Given the description of an element on the screen output the (x, y) to click on. 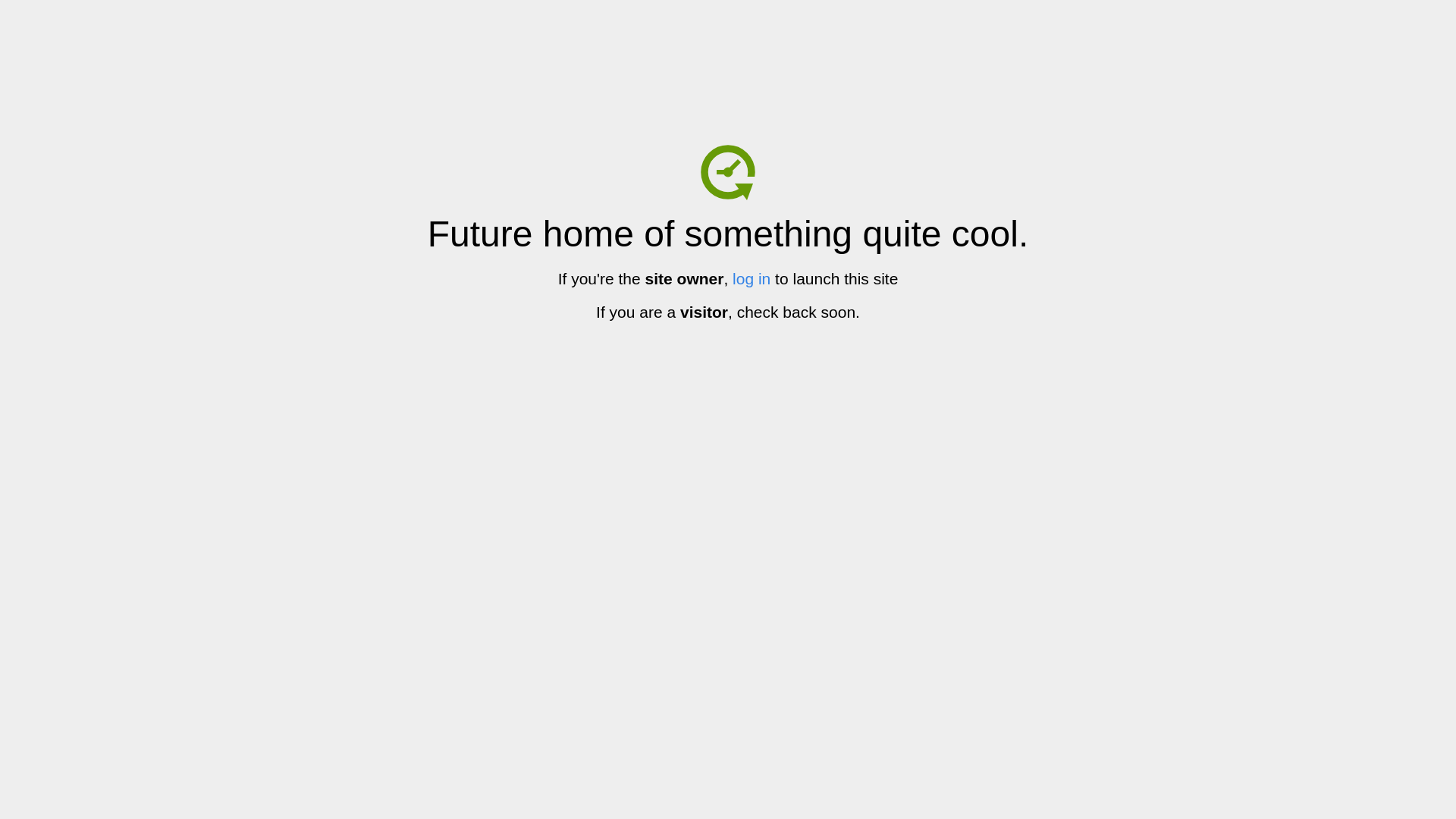
log in Element type: text (751, 278)
